Given the description of an element on the screen output the (x, y) to click on. 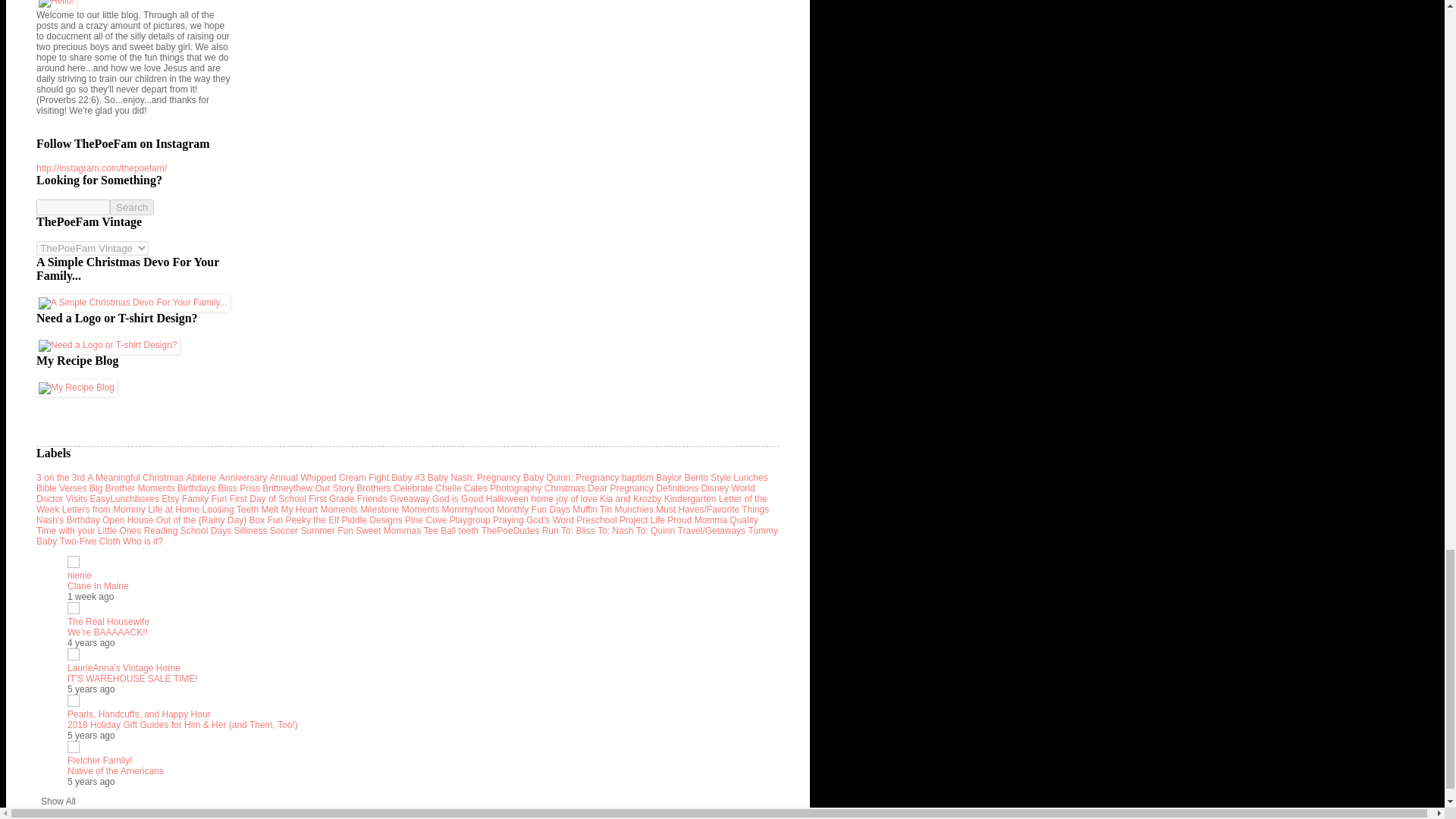
Search (132, 207)
Search (132, 207)
Anniversary (242, 477)
3 on the 3rd (60, 477)
Abilene (200, 477)
Annual Whipped Cream Fight (328, 477)
A Meaningful Christmas (135, 477)
Search (132, 207)
